Given the description of an element on the screen output the (x, y) to click on. 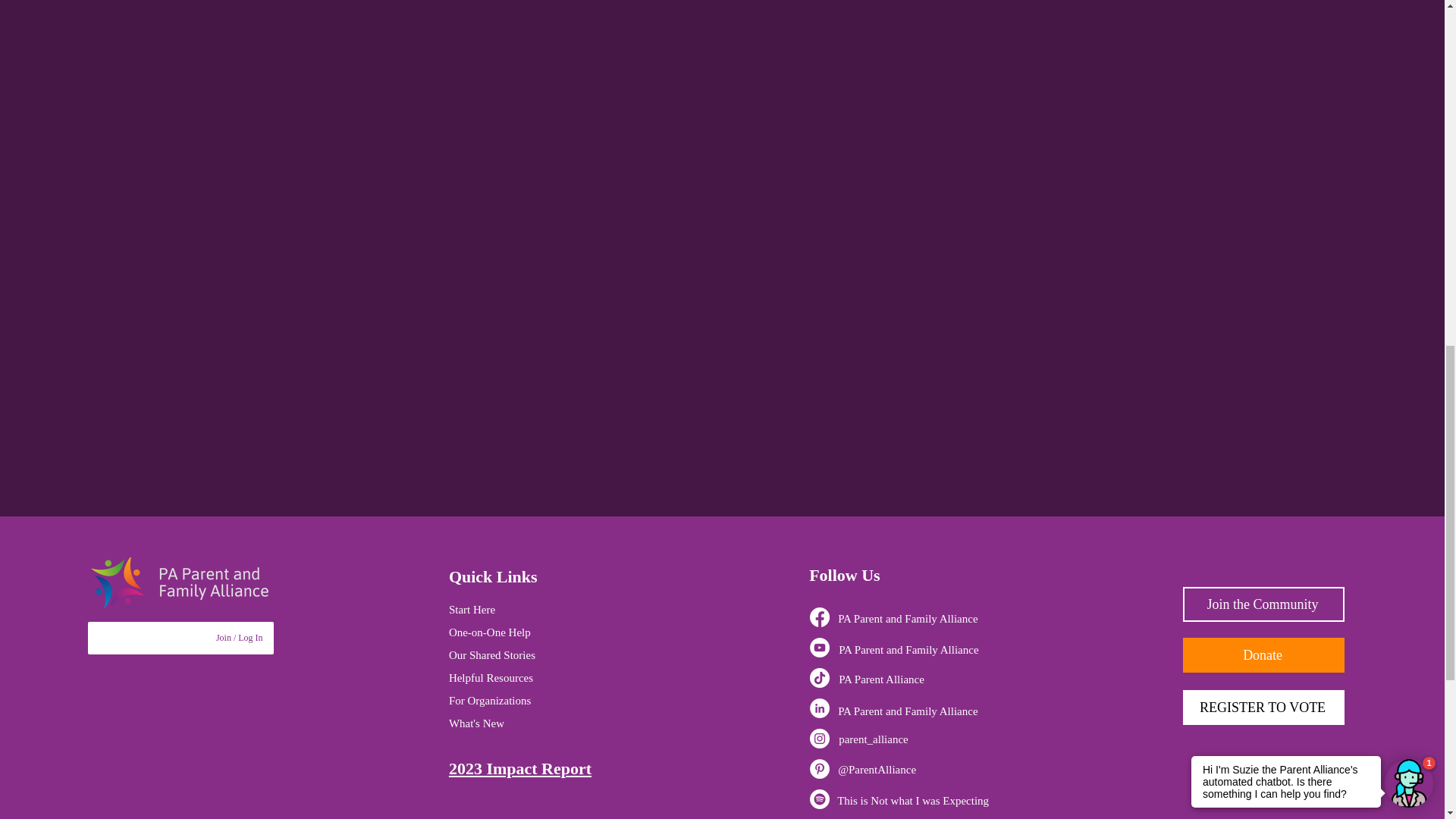
One-on-One Help (489, 632)
REGISTER TO VOTE (1262, 707)
Donate (1262, 655)
Helpful Resources (490, 677)
PA Parent and Family Alliance (907, 618)
Our Shared Stories (491, 654)
PA Parent and Family Alliance (908, 649)
What's New (475, 723)
PA Parent Alliance (881, 679)
Start Here (471, 609)
Join the Community (1262, 604)
For Organizations (489, 700)
This is Not what I was Expecting (912, 800)
PA Parent and Family Alliance (907, 711)
2023 Impact Report (519, 768)
